Given the description of an element on the screen output the (x, y) to click on. 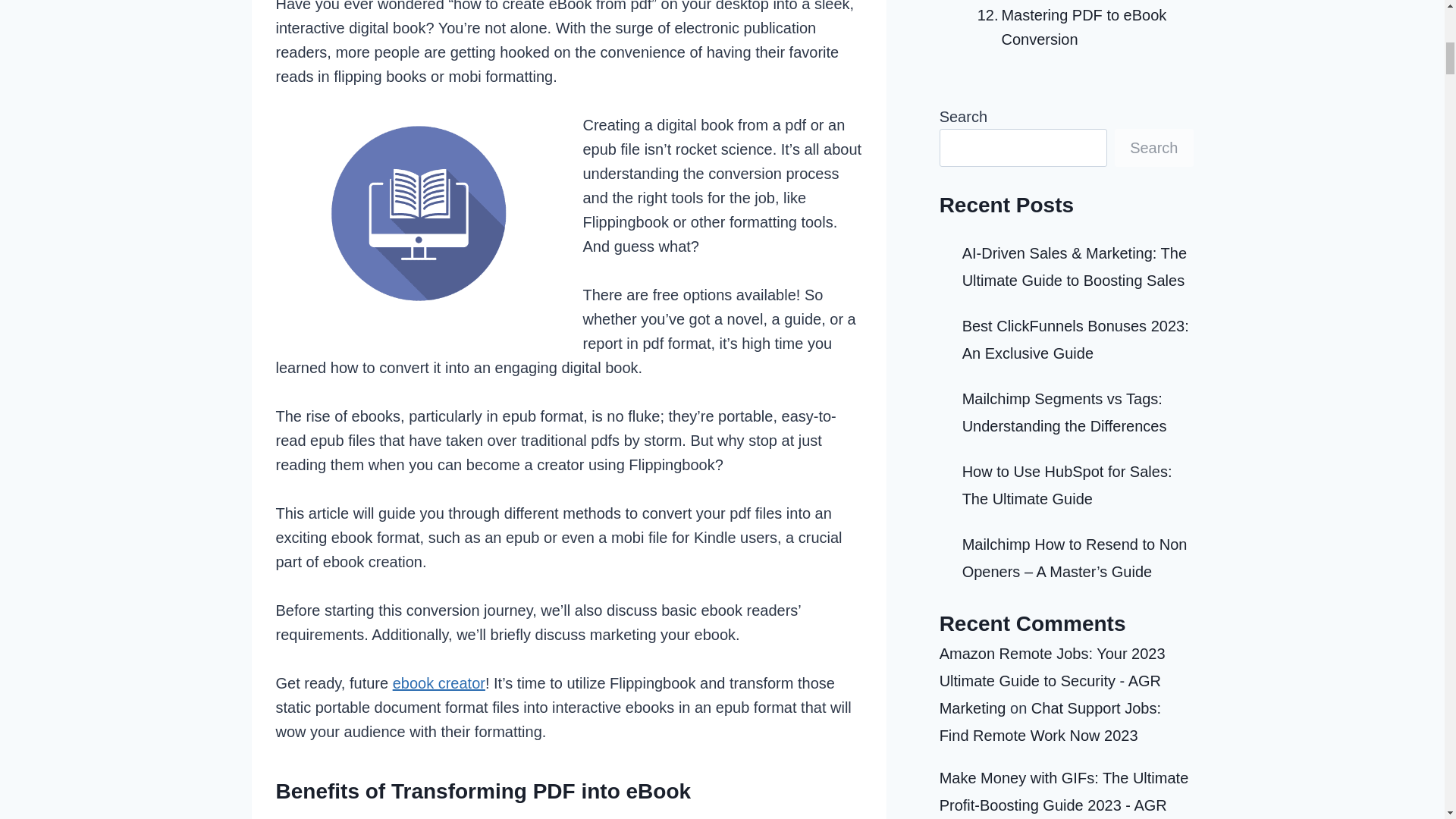
Writing, Formatting, and Publishing eBooks (1077, 1)
Mastering PDF to eBook Conversion (1077, 27)
ebook creator (438, 682)
